Given the description of an element on the screen output the (x, y) to click on. 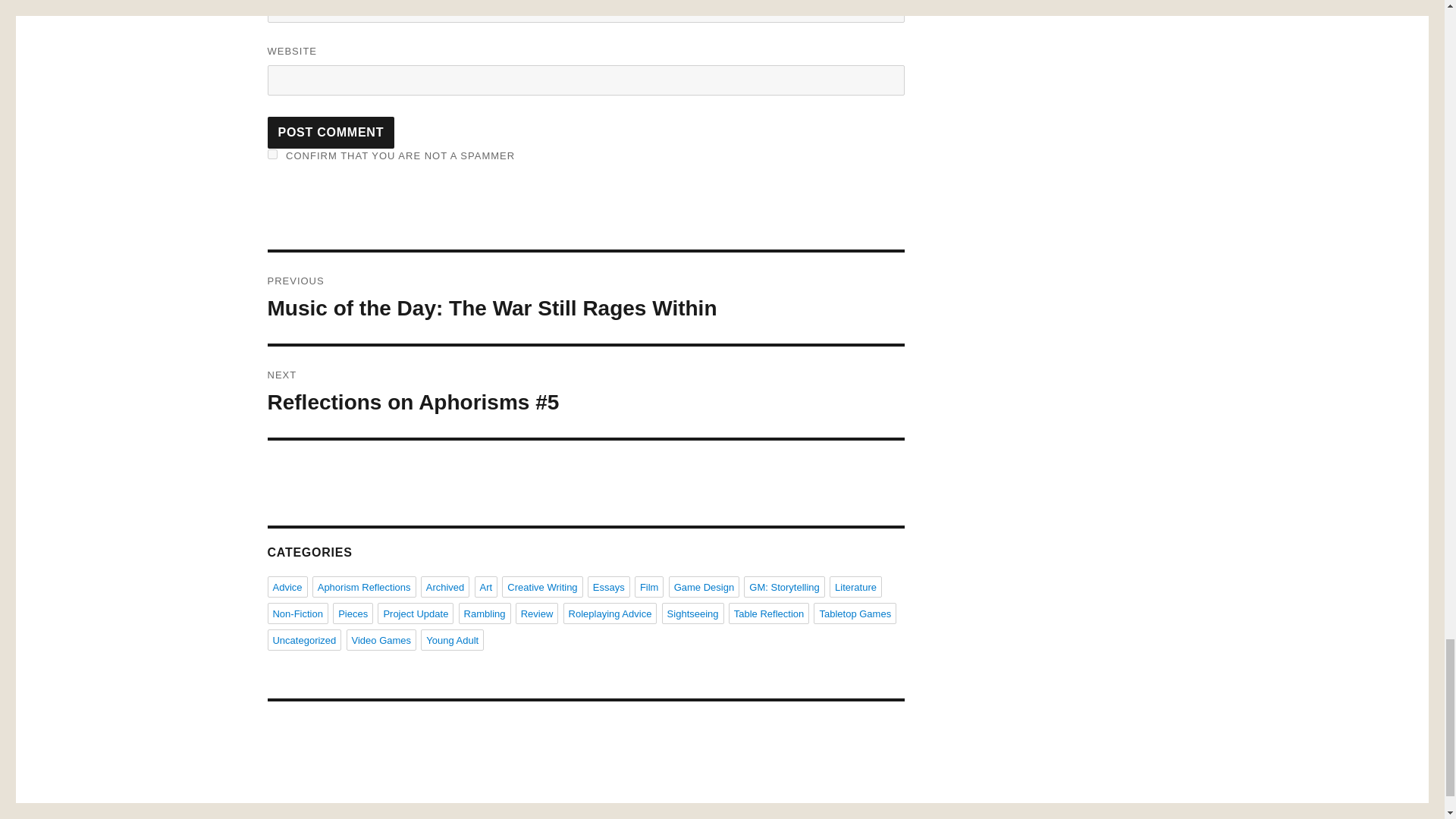
Film (648, 586)
Literature (855, 586)
GM: Storytelling (784, 586)
Post Comment (330, 132)
on (271, 153)
Creative Writing (542, 586)
Project Update (414, 613)
Pieces (352, 613)
Archived (445, 586)
Advice (286, 586)
